Given the description of an element on the screen output the (x, y) to click on. 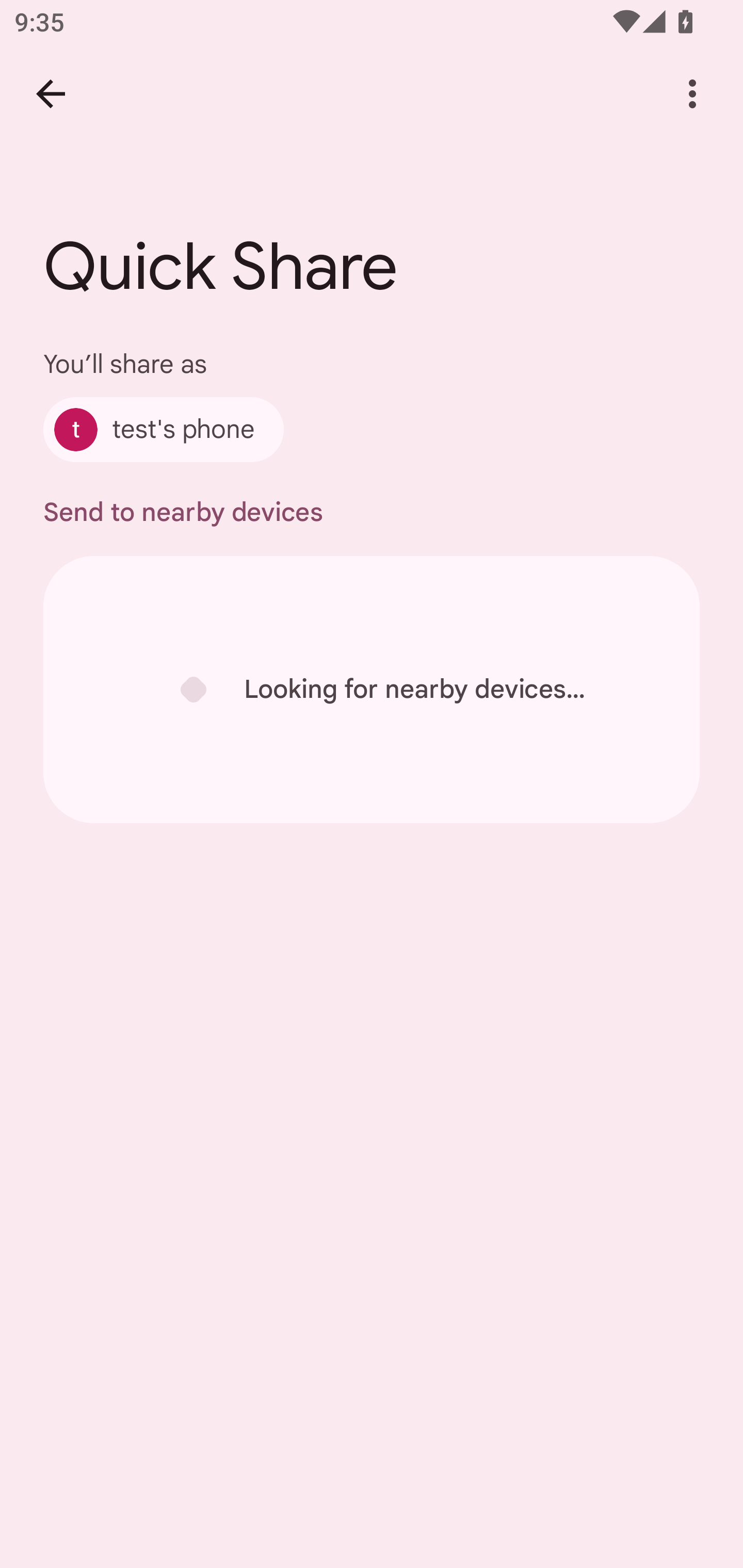
Back (50, 93)
More (692, 93)
test's phone (163, 429)
